Given the description of an element on the screen output the (x, y) to click on. 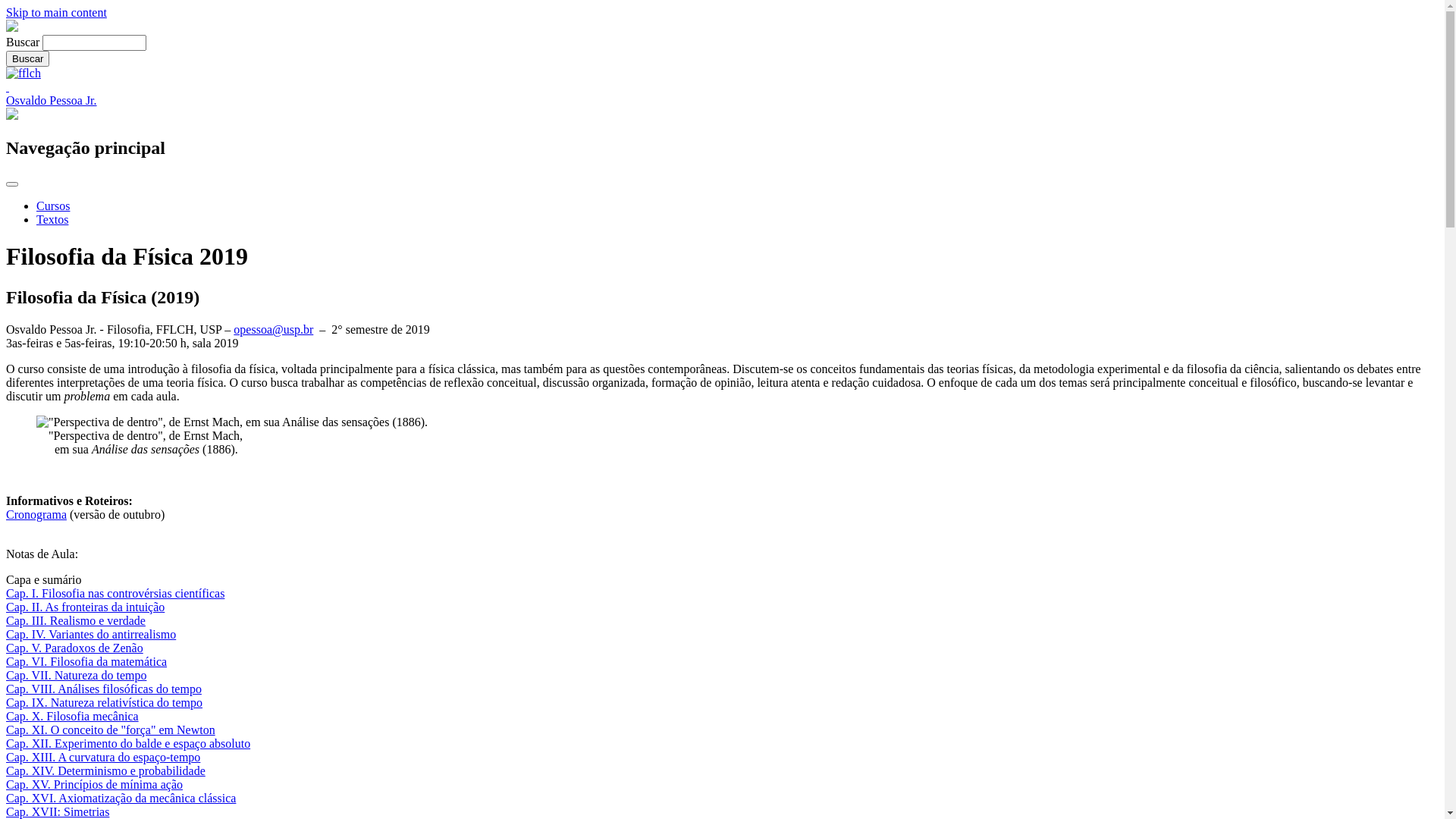
Enter the terms you wish to search for. Element type: hover (94, 42)
Cap. XVII: Simetrias Element type: text (57, 811)
Cursos Element type: text (52, 205)
Cronograma Element type: text (36, 514)
Textos Element type: text (52, 219)
Osvaldo Pessoa Jr. Element type: text (51, 100)
  Element type: text (7, 86)
Buscar Element type: text (27, 58)
Cap. VII. Natureza do tempo Element type: text (76, 674)
Cap. III. Realismo e verdade Element type: text (75, 620)
Cap. XIV. Determinismo e probabilidade Element type: text (105, 770)
Cap. IV. Variantes do antirrealismo Element type: text (90, 633)
opessoa@usp.br Element type: text (273, 329)
Skip to main content Element type: text (56, 12)
